Given the description of an element on the screen output the (x, y) to click on. 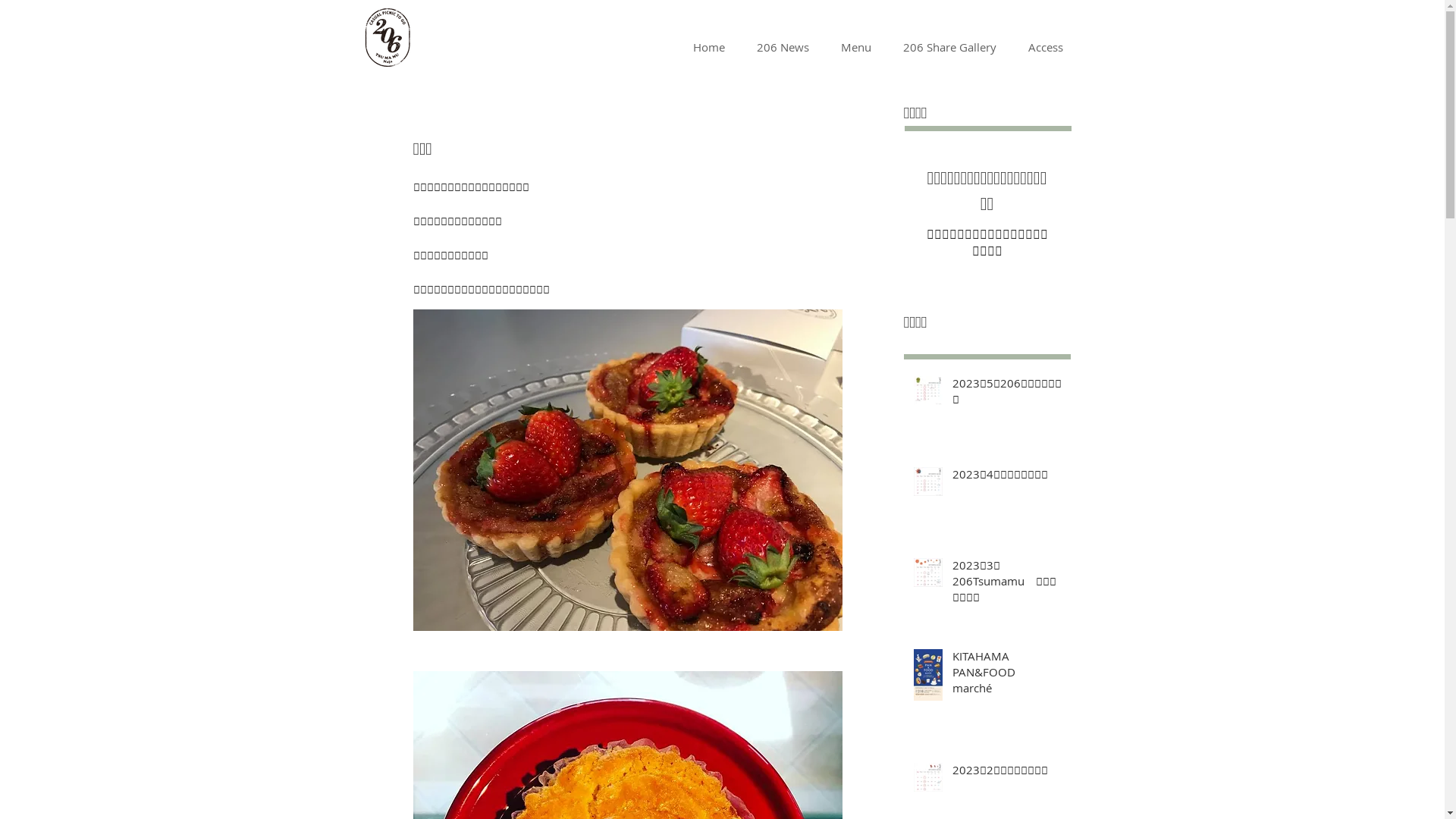
Menu Element type: text (856, 46)
Access Element type: text (1044, 46)
Home Element type: text (708, 46)
206 News Element type: text (782, 46)
206 Share Gallery Element type: text (949, 46)
